Given the description of an element on the screen output the (x, y) to click on. 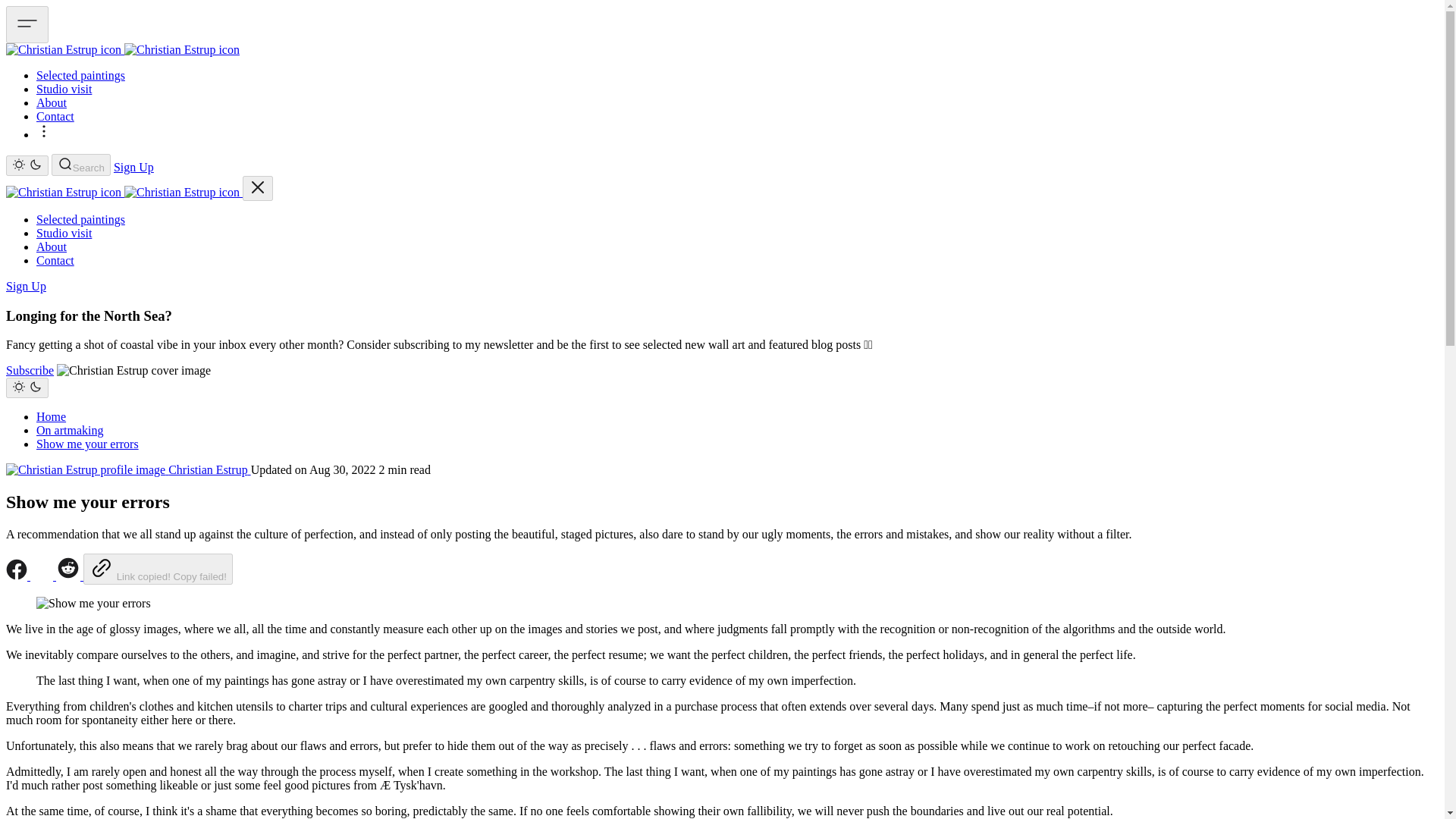
Contact (55, 115)
Selected paintings (80, 74)
Contact (55, 259)
Link copied! Copy failed! (157, 568)
About (51, 246)
Sign Up (133, 166)
Selected paintings (80, 219)
About (51, 102)
Subscribe (29, 369)
Home (50, 416)
Studio visit (63, 88)
Studio visit (63, 232)
Show me your errors (87, 443)
Search (80, 164)
Search button (80, 164)
